Given the description of an element on the screen output the (x, y) to click on. 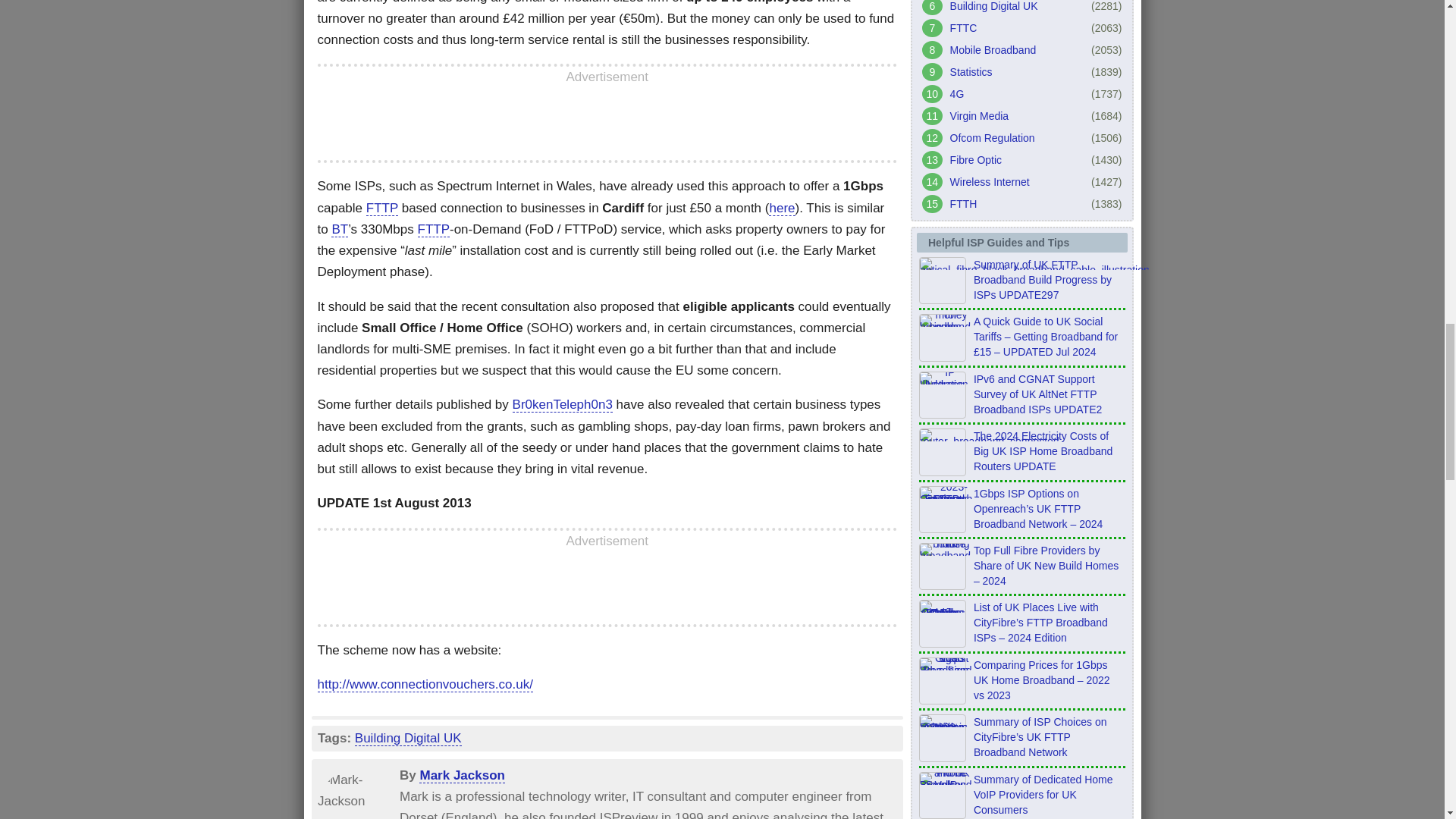
FTTP (432, 229)
FTTP (381, 208)
BT (339, 229)
Mark Jackson (461, 780)
Building Digital UK (407, 738)
here (781, 208)
Br0kenTeleph0n3 (562, 404)
